Given the description of an element on the screen output the (x, y) to click on. 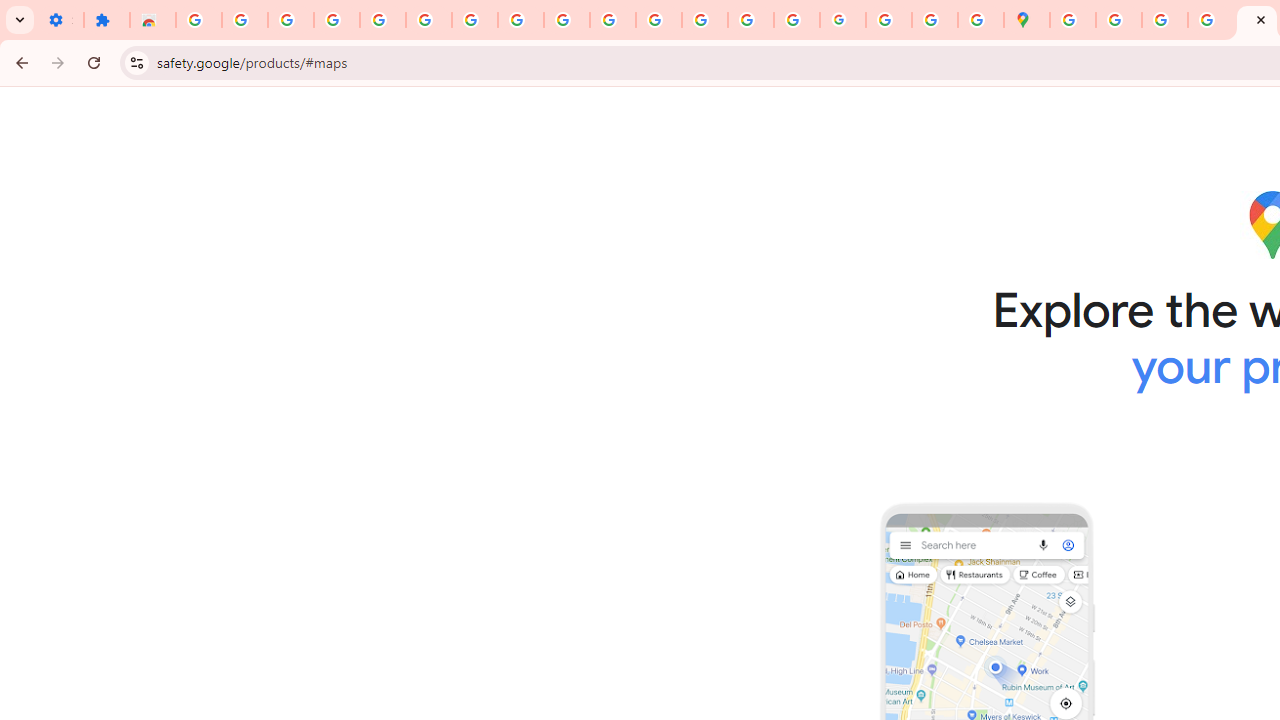
Google Account (520, 20)
Delete photos & videos - Computer - Google Photos Help (290, 20)
YouTube (567, 20)
Sign in - Google Accounts (428, 20)
